Given the description of an element on the screen output the (x, y) to click on. 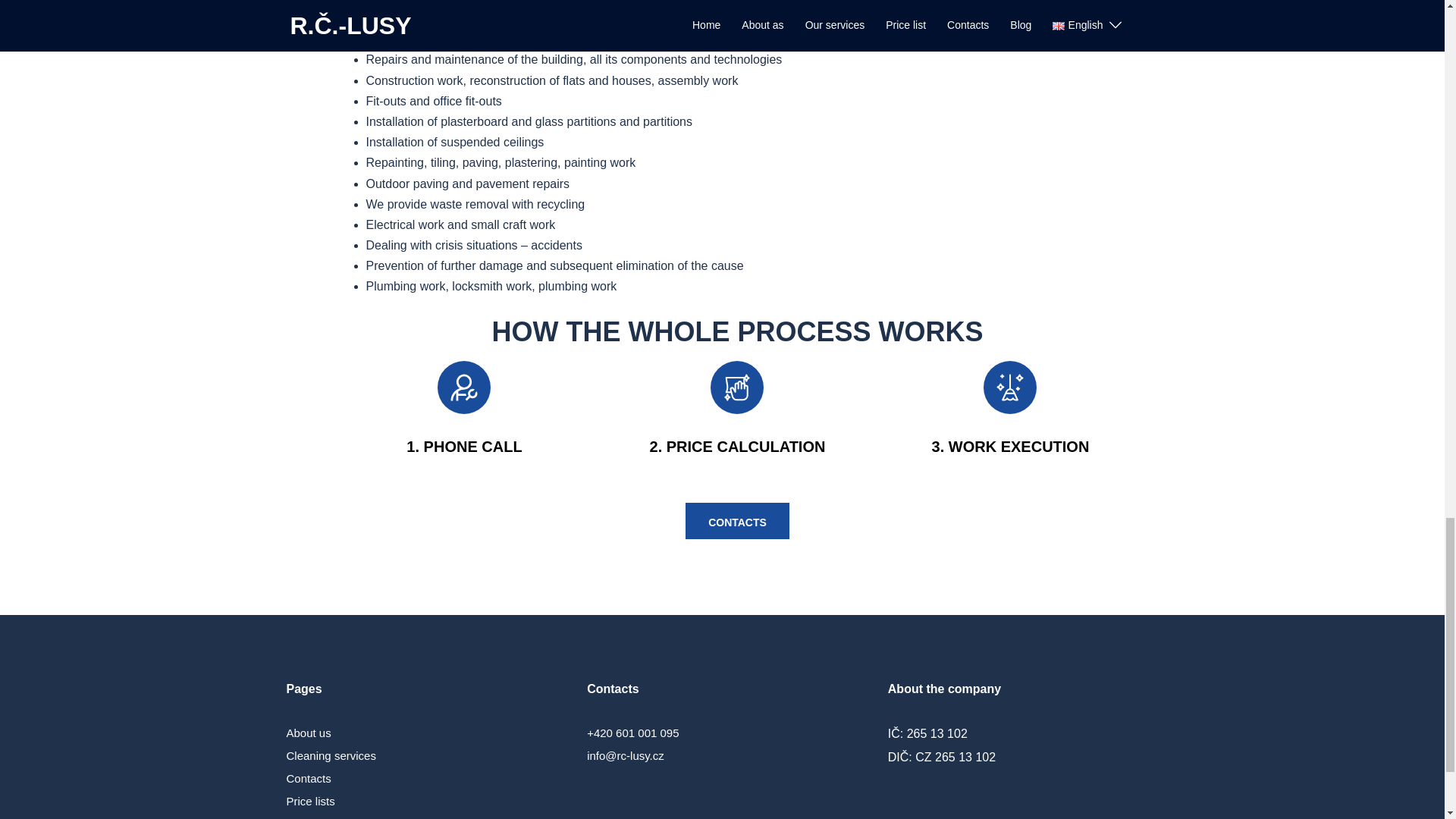
Price lists (310, 800)
Cleaning services (330, 755)
CONTACTS (737, 520)
Contacts (308, 778)
About us (308, 732)
